Given the description of an element on the screen output the (x, y) to click on. 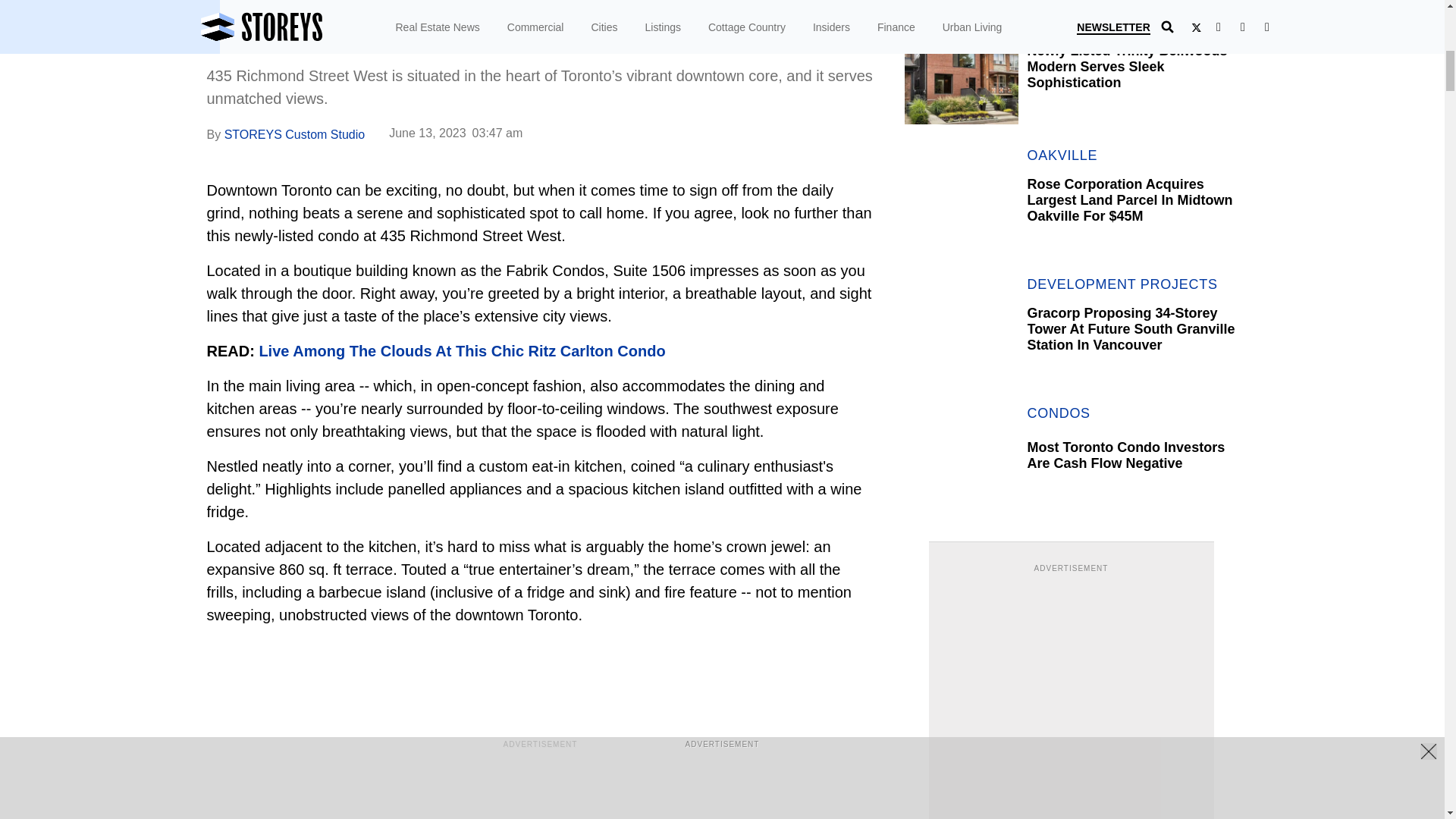
3rd party ad content (1070, 670)
